Given the description of an element on the screen output the (x, y) to click on. 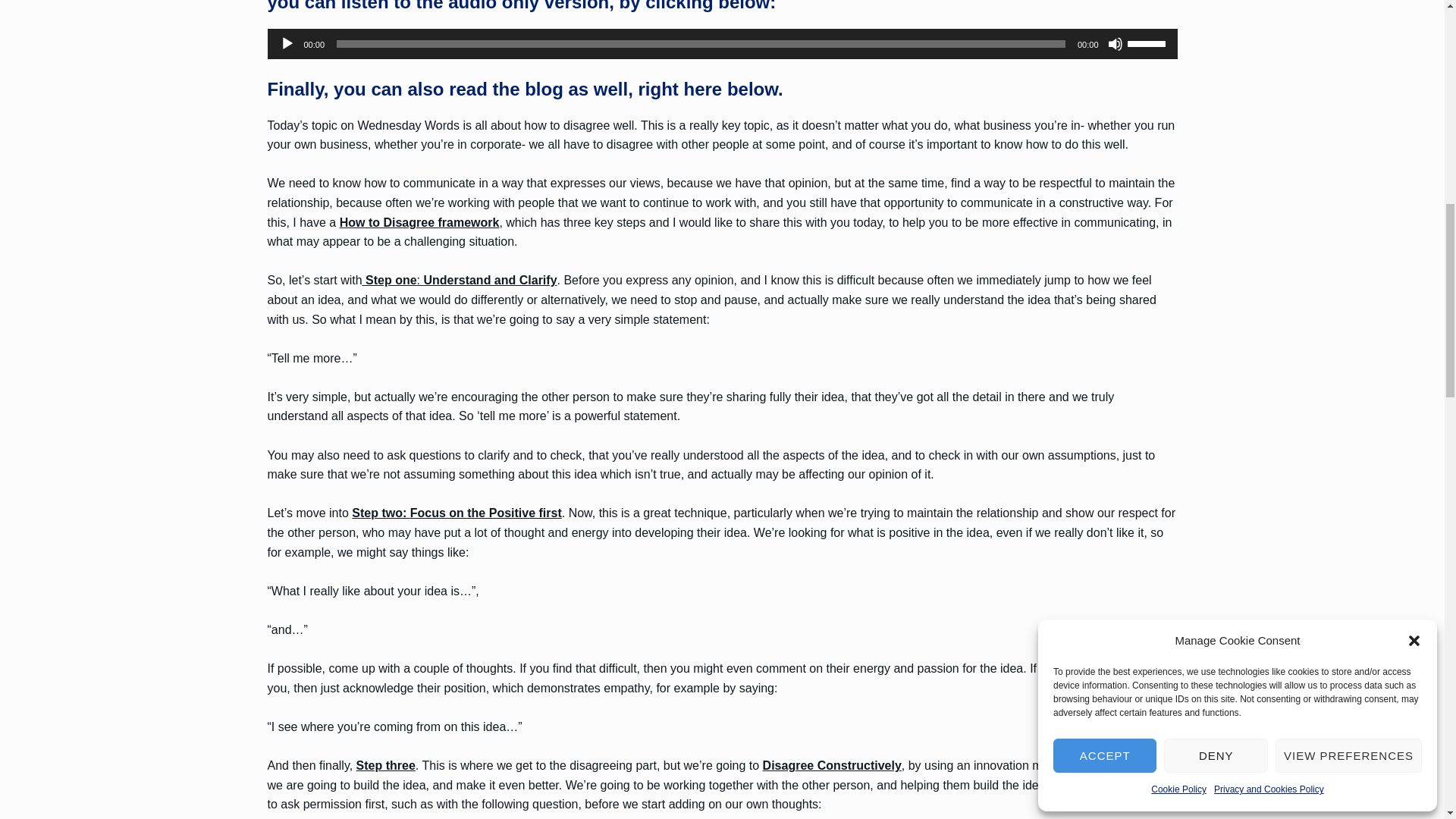
Mute (1114, 43)
Play (286, 43)
